Given the description of an element on the screen output the (x, y) to click on. 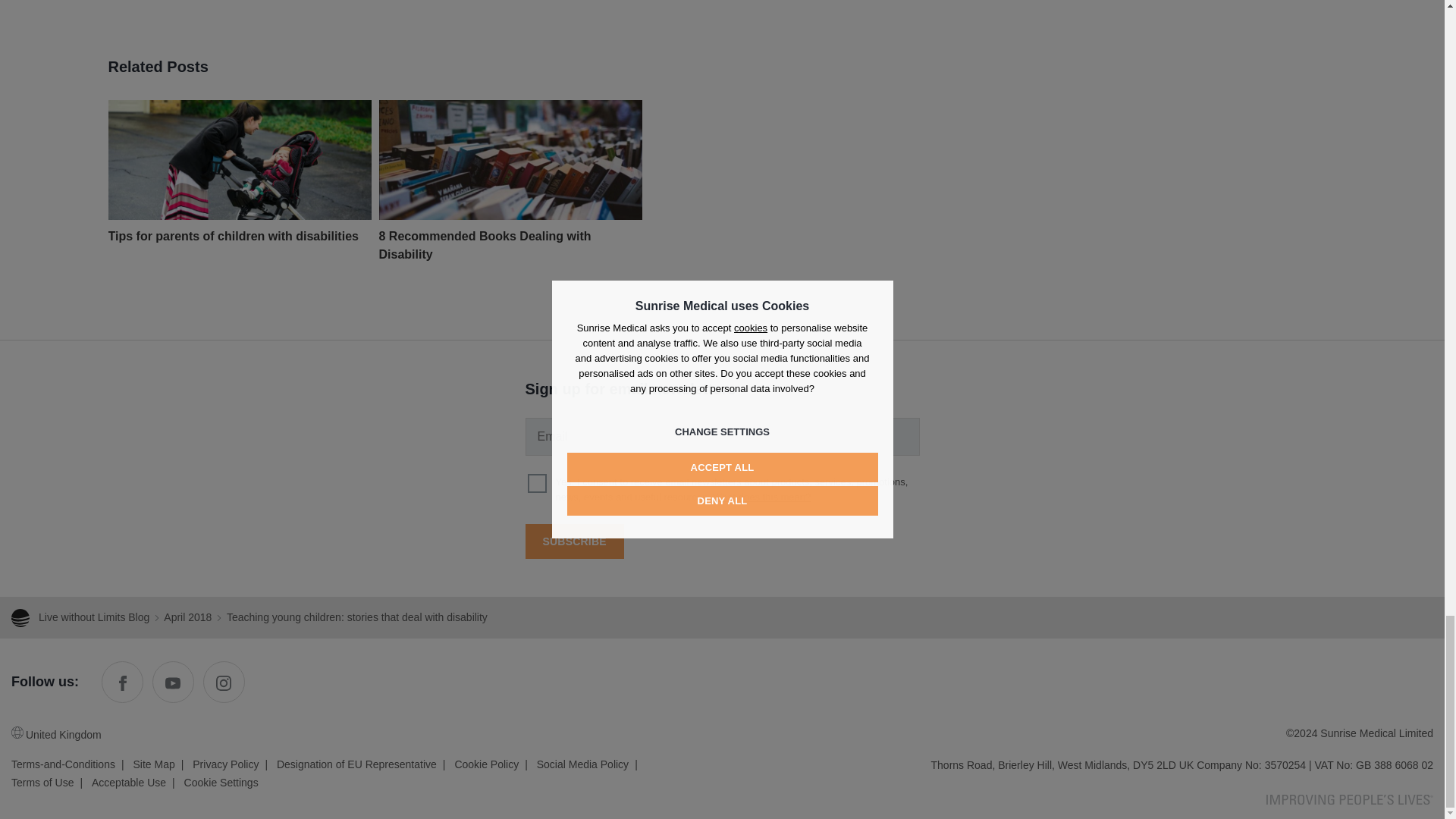
Subscribe (573, 541)
